Given the description of an element on the screen output the (x, y) to click on. 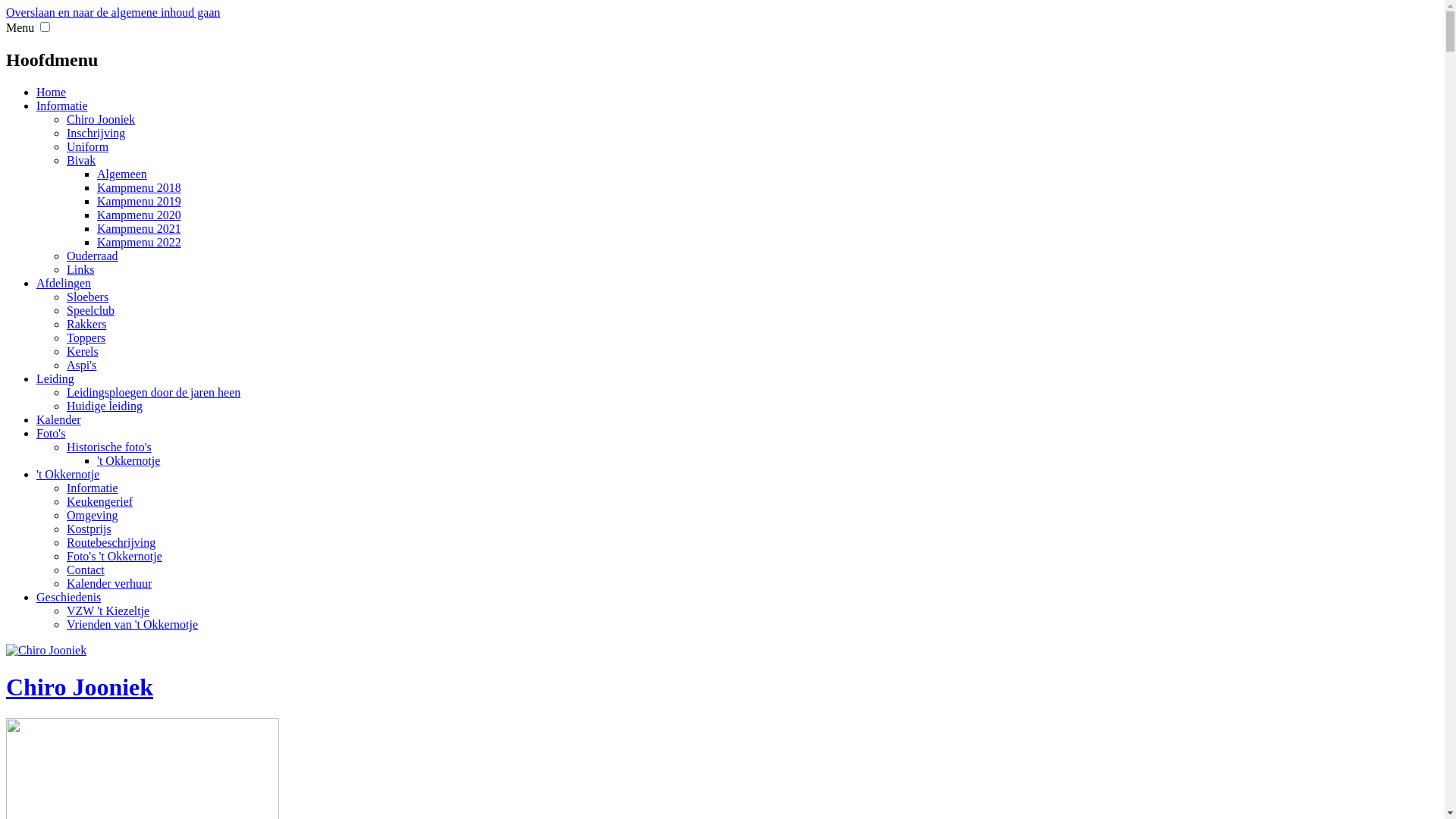
Informatie Element type: text (92, 487)
Kampmenu 2022 Element type: text (139, 241)
Algemeen Element type: text (122, 173)
Historische foto's Element type: text (108, 446)
Home Element type: text (50, 91)
Chiro Jooniek Element type: text (100, 118)
Omgeving Element type: text (92, 514)
Kampmenu 2018 Element type: text (139, 187)
Vrienden van 't Okkernotje Element type: text (131, 624)
Afdelingen Element type: text (63, 282)
VZW 't Kiezeltje Element type: text (107, 610)
Keukengerief Element type: text (99, 501)
Bivak Element type: text (80, 159)
Leidingsploegen door de jaren heen Element type: text (153, 391)
Kampmenu 2019 Element type: text (139, 200)
Aspi's Element type: text (81, 364)
't Okkernotje Element type: text (67, 473)
Kampmenu 2021 Element type: text (139, 228)
Toppers Element type: text (85, 337)
Huidige leiding Element type: text (104, 405)
Kampmenu 2020 Element type: text (139, 214)
Sloebers Element type: text (87, 296)
Kalender verhuur Element type: text (108, 583)
Leiding Element type: text (55, 378)
Geschiedenis Element type: text (68, 596)
Overslaan en naar de algemene inhoud gaan Element type: text (113, 12)
Routebeschrijving Element type: text (110, 542)
Links Element type: text (80, 269)
Informatie Element type: text (61, 105)
Inschrijving Element type: text (95, 132)
Kalender Element type: text (58, 419)
Rakkers Element type: text (86, 323)
Kostprijs Element type: text (88, 528)
Speelclub Element type: text (90, 310)
Contact Element type: text (85, 569)
Kerels Element type: text (82, 351)
Ouderraad Element type: text (92, 255)
Foto's Element type: text (50, 432)
Uniform Element type: text (87, 146)
Foto's 't Okkernotje Element type: text (114, 555)
Chiro Jooniek Element type: text (79, 686)
't Okkernotje Element type: text (128, 460)
